Given the description of an element on the screen output the (x, y) to click on. 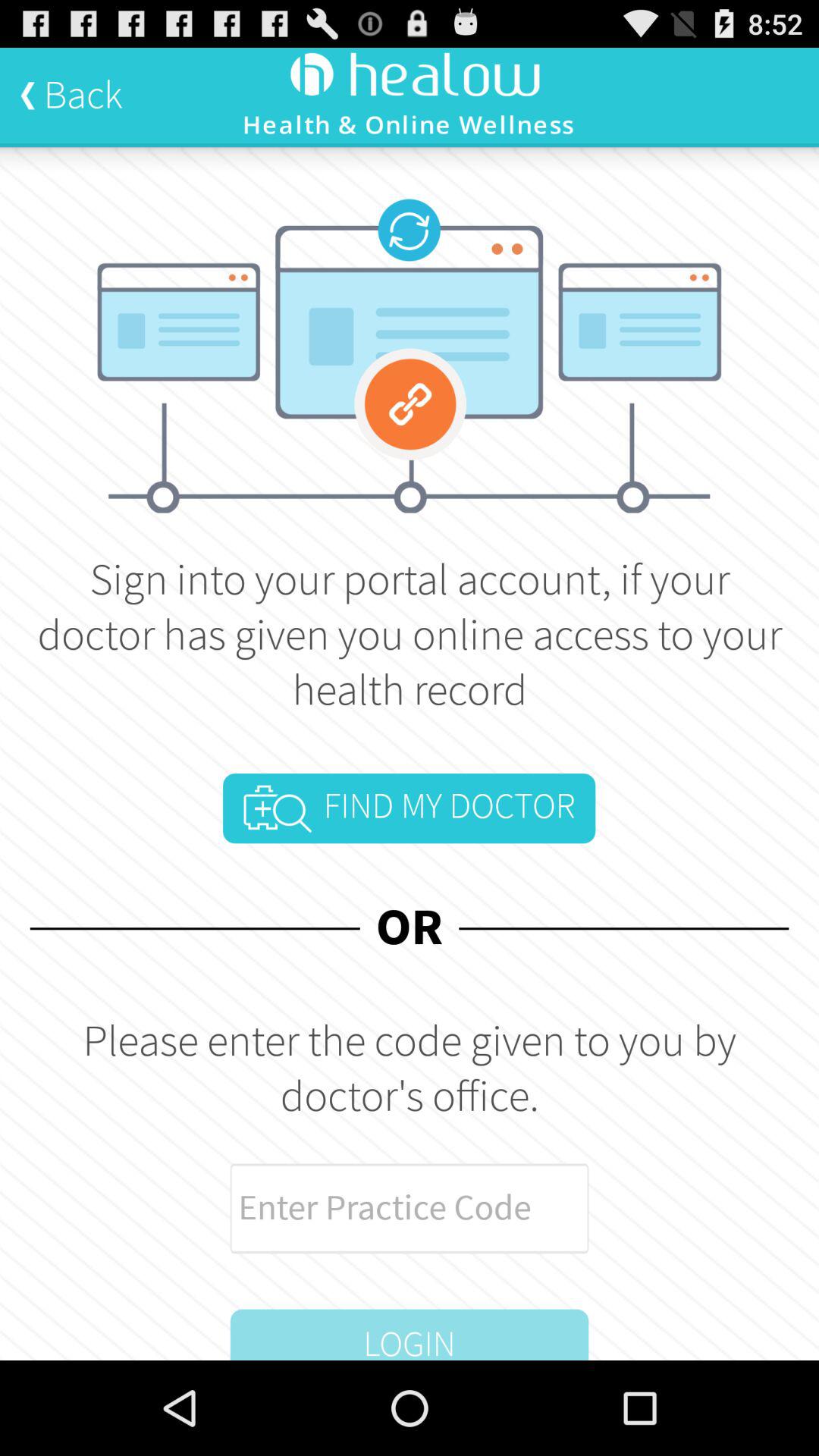
enter code (409, 1208)
